Given the description of an element on the screen output the (x, y) to click on. 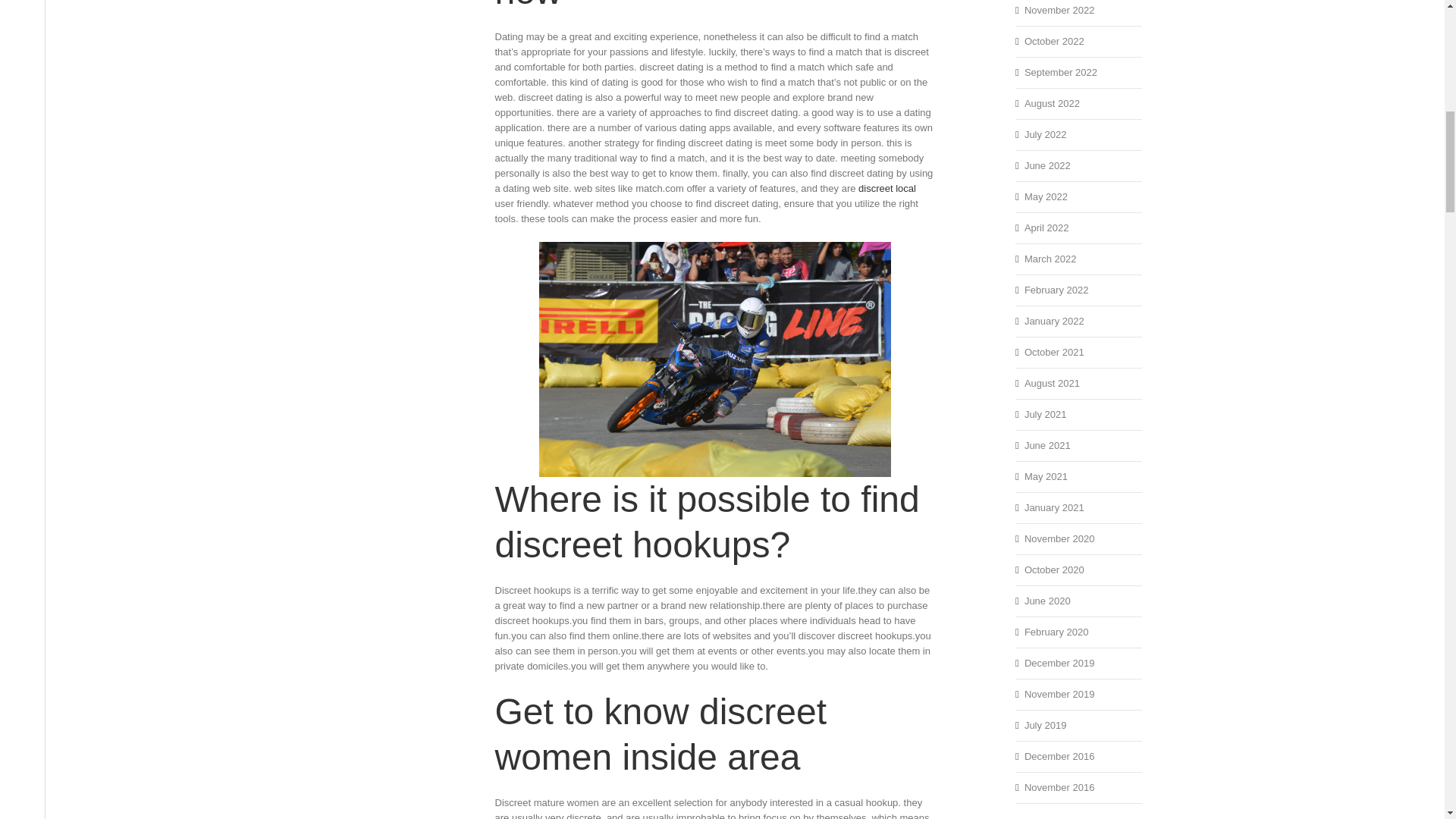
discreet local (887, 188)
